Given the description of an element on the screen output the (x, y) to click on. 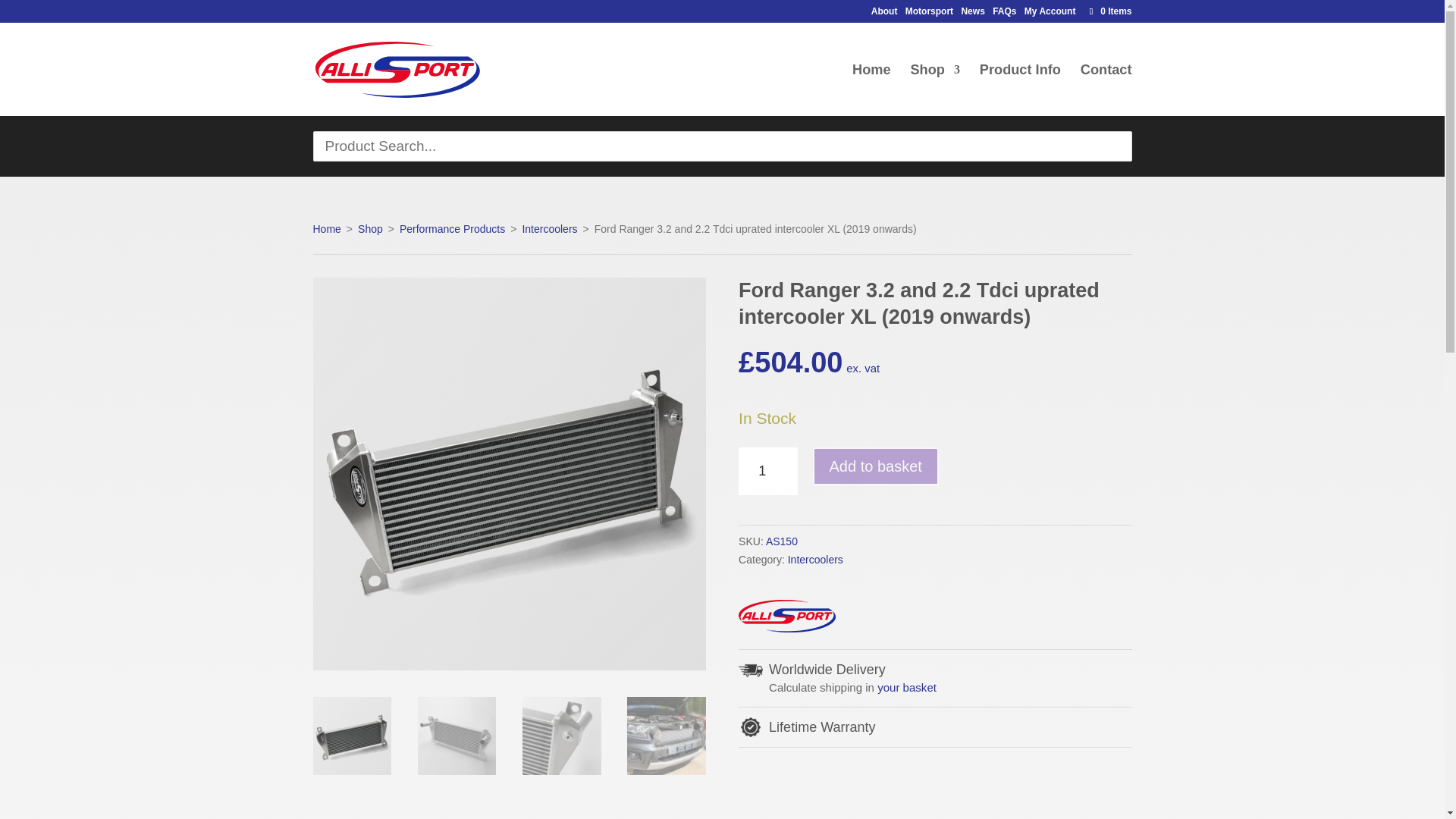
Product Info (1020, 90)
About (884, 14)
Shop (934, 90)
Allisport (786, 619)
Motorsport (929, 14)
News (972, 14)
My Account (1050, 14)
1 (767, 471)
Contact (1106, 90)
0 Items (1108, 10)
FAQs (1004, 14)
